Given the description of an element on the screen output the (x, y) to click on. 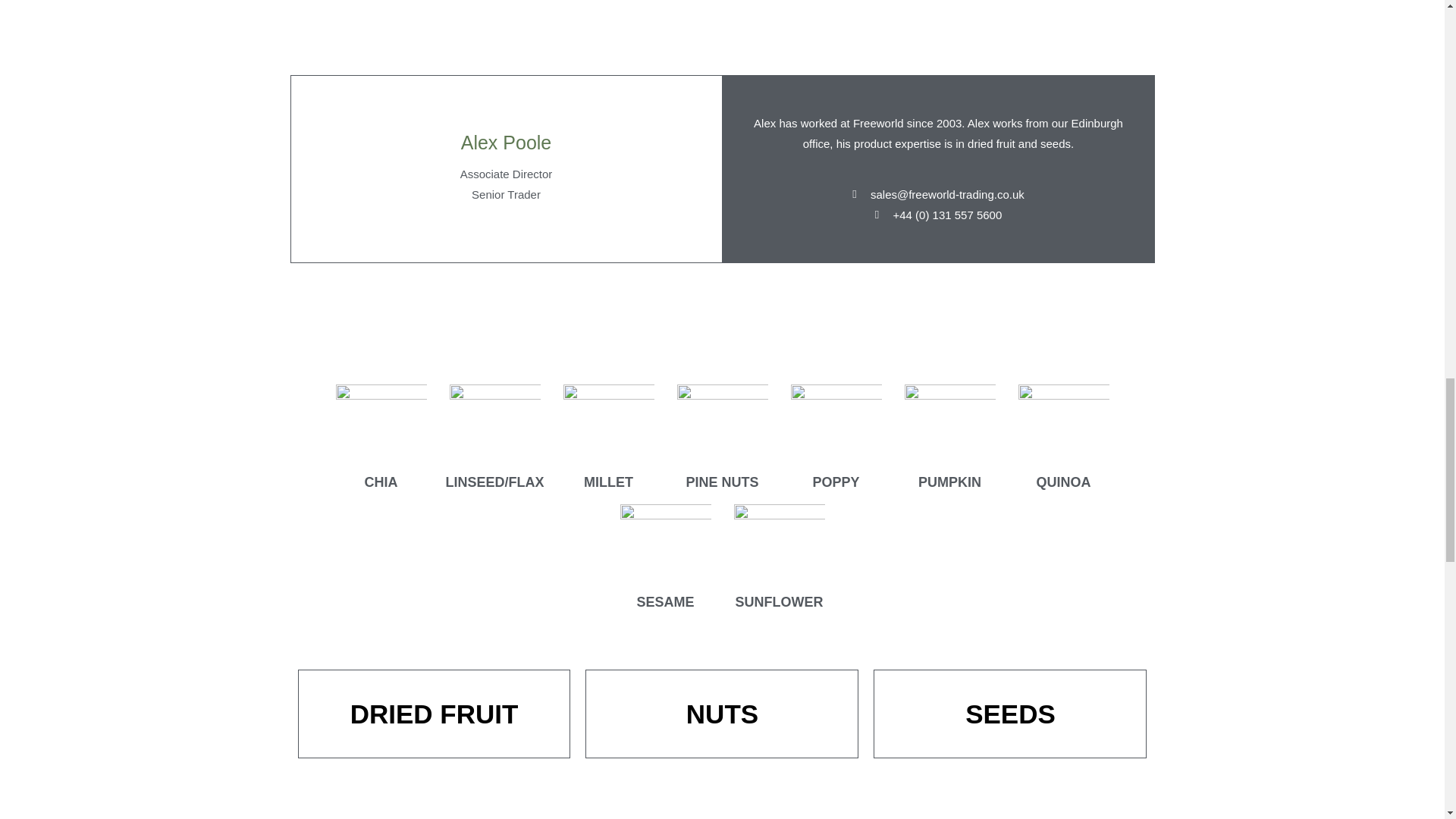
MILLET (608, 482)
CHIA (380, 482)
